Given the description of an element on the screen output the (x, y) to click on. 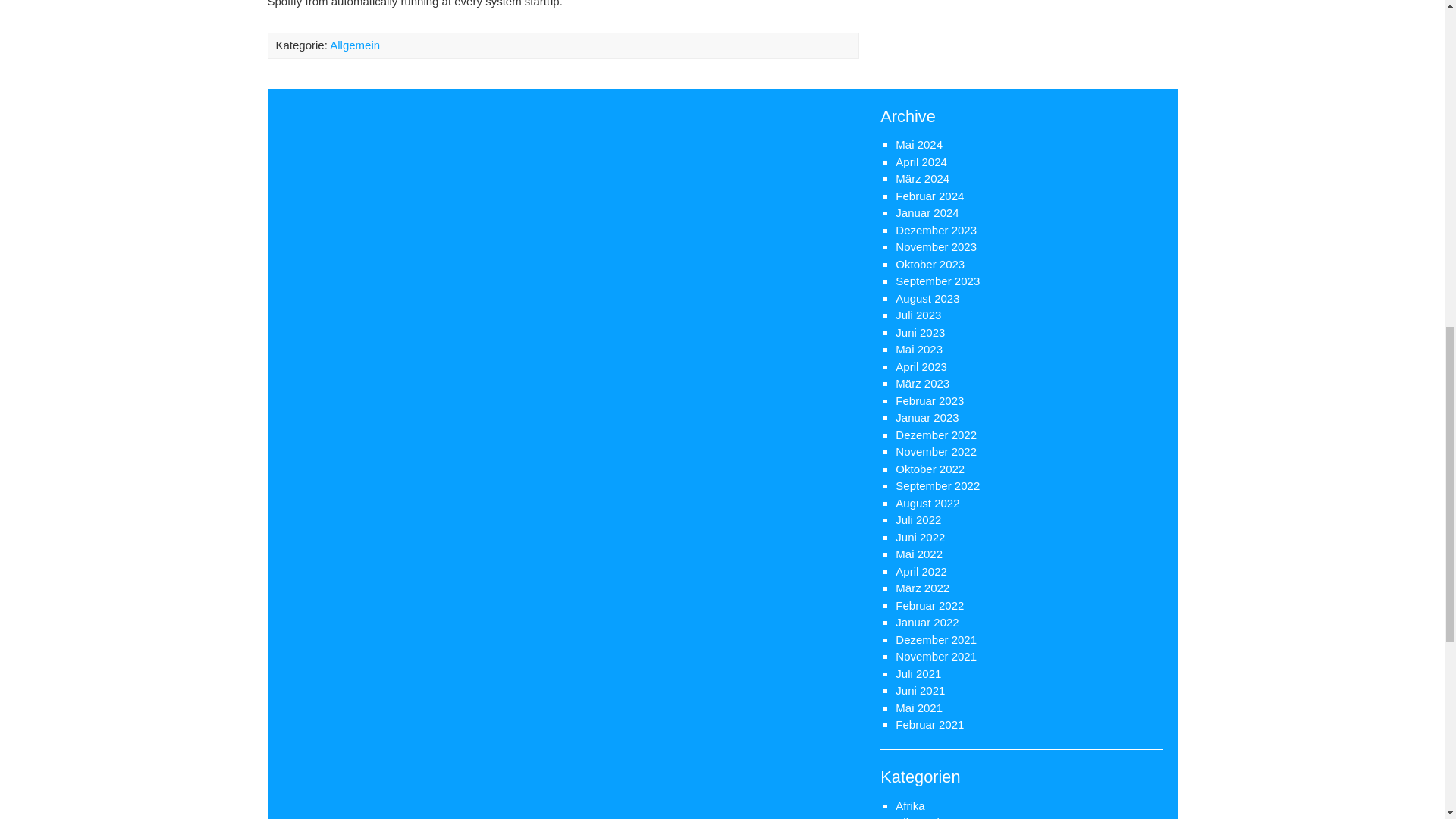
Januar 2023 (926, 417)
Mai 2024 (918, 144)
Allgemein (355, 44)
Juni 2023 (919, 332)
Februar 2023 (929, 400)
Oktober 2023 (929, 264)
April 2024 (921, 161)
Dezember 2023 (935, 229)
September 2023 (937, 280)
Januar 2024 (926, 212)
